Given the description of an element on the screen output the (x, y) to click on. 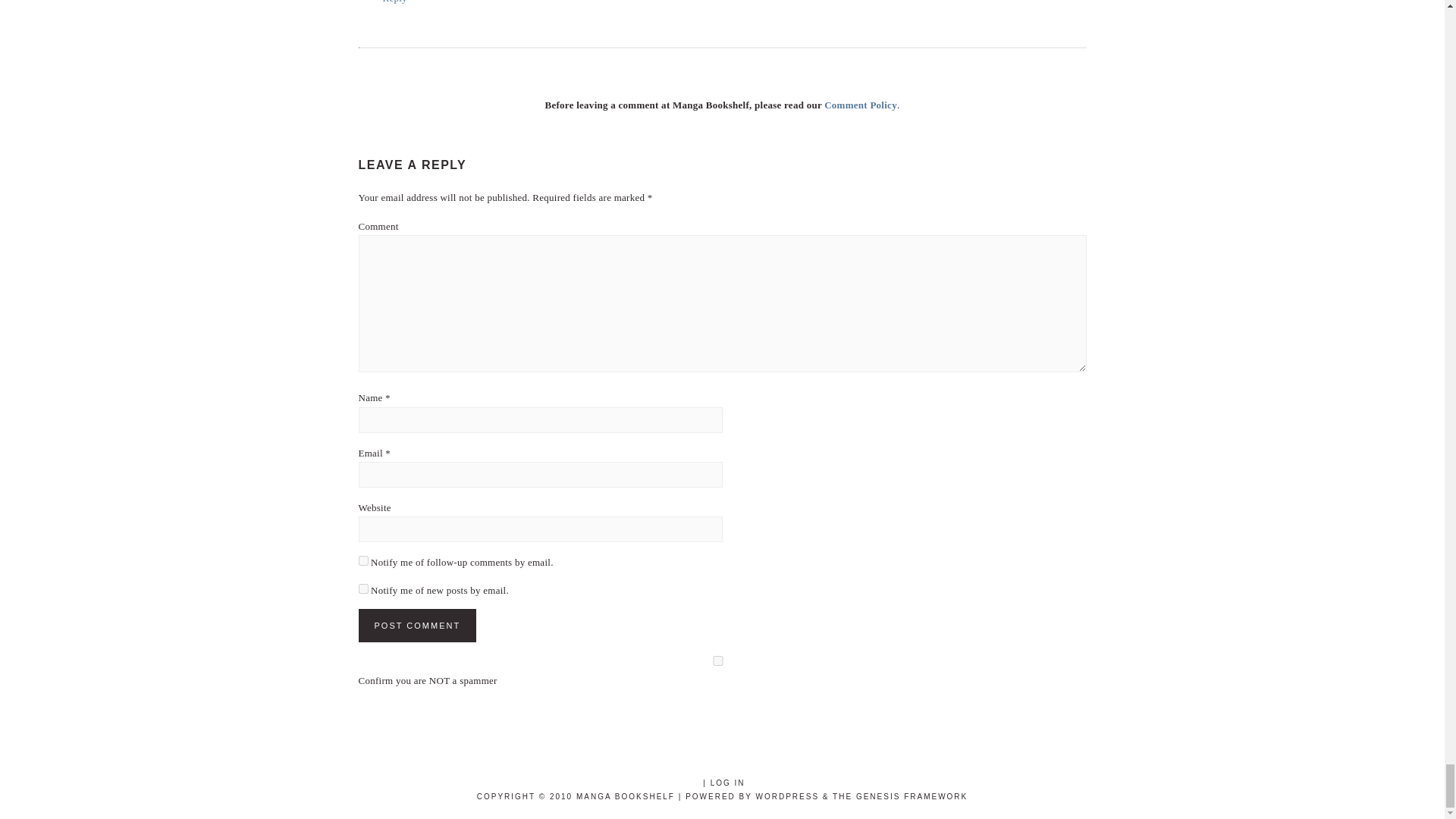
subscribe (363, 588)
on (717, 660)
Post Comment (417, 625)
subscribe (363, 560)
